Given the description of an element on the screen output the (x, y) to click on. 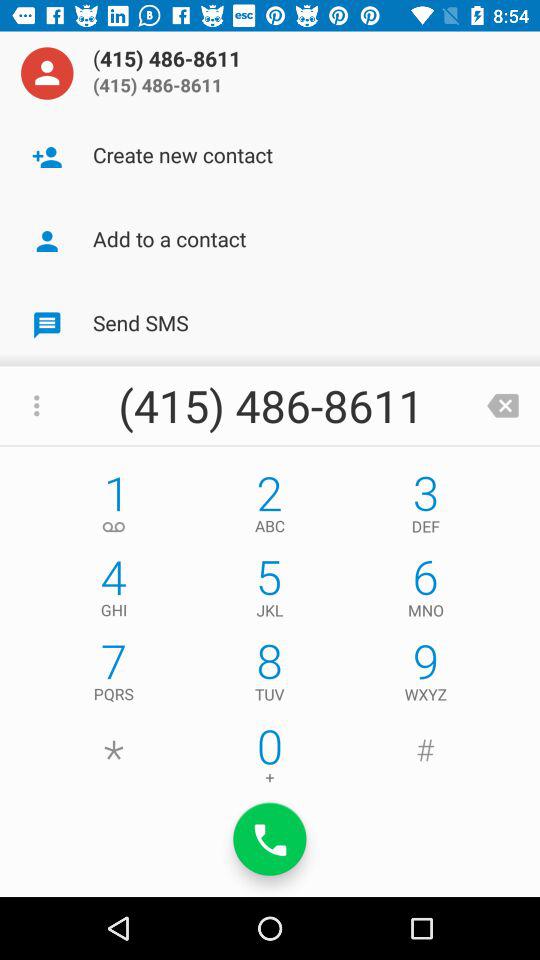
open the app below the + app (269, 839)
